Given the description of an element on the screen output the (x, y) to click on. 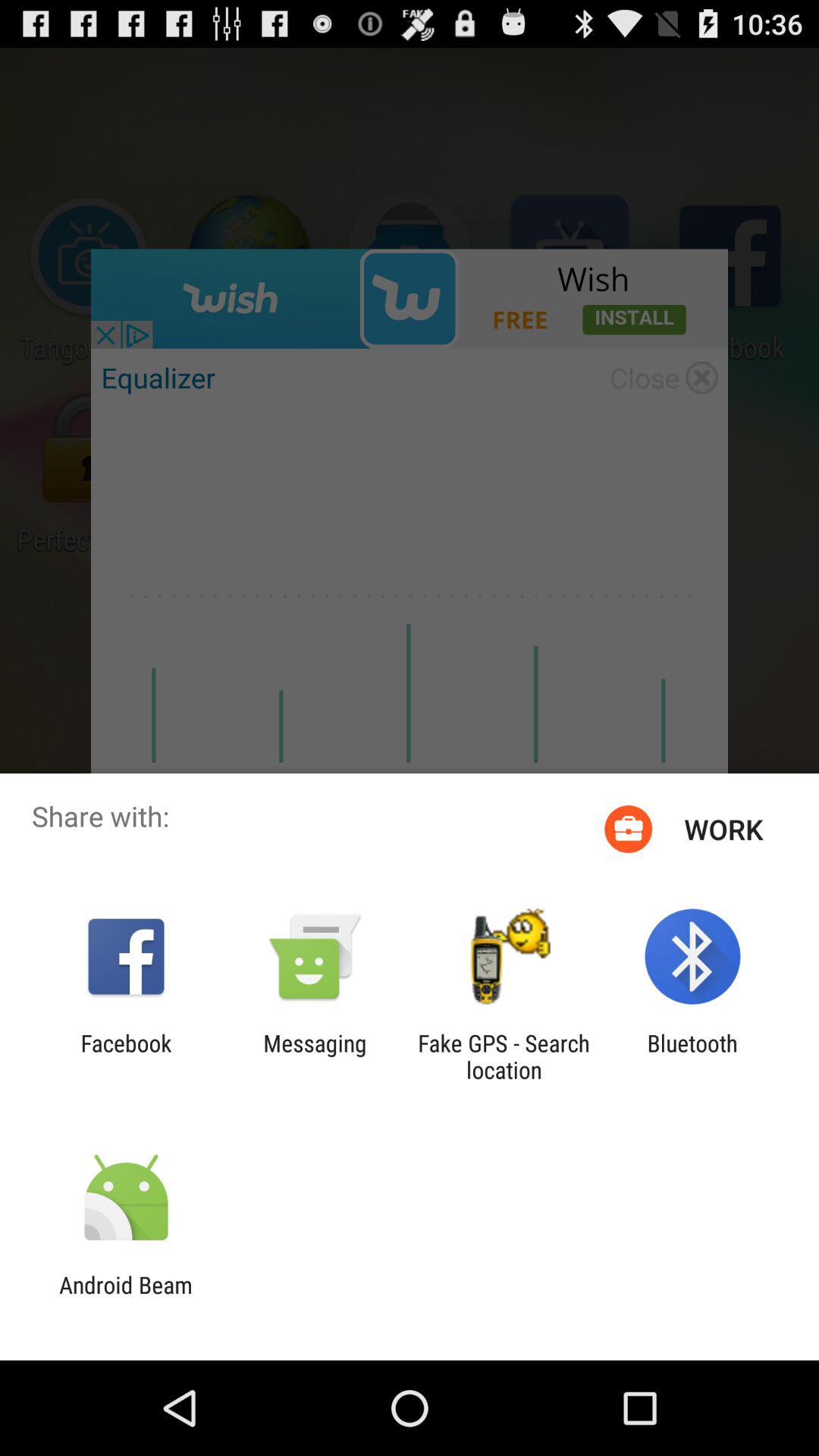
click the android beam (125, 1298)
